Given the description of an element on the screen output the (x, y) to click on. 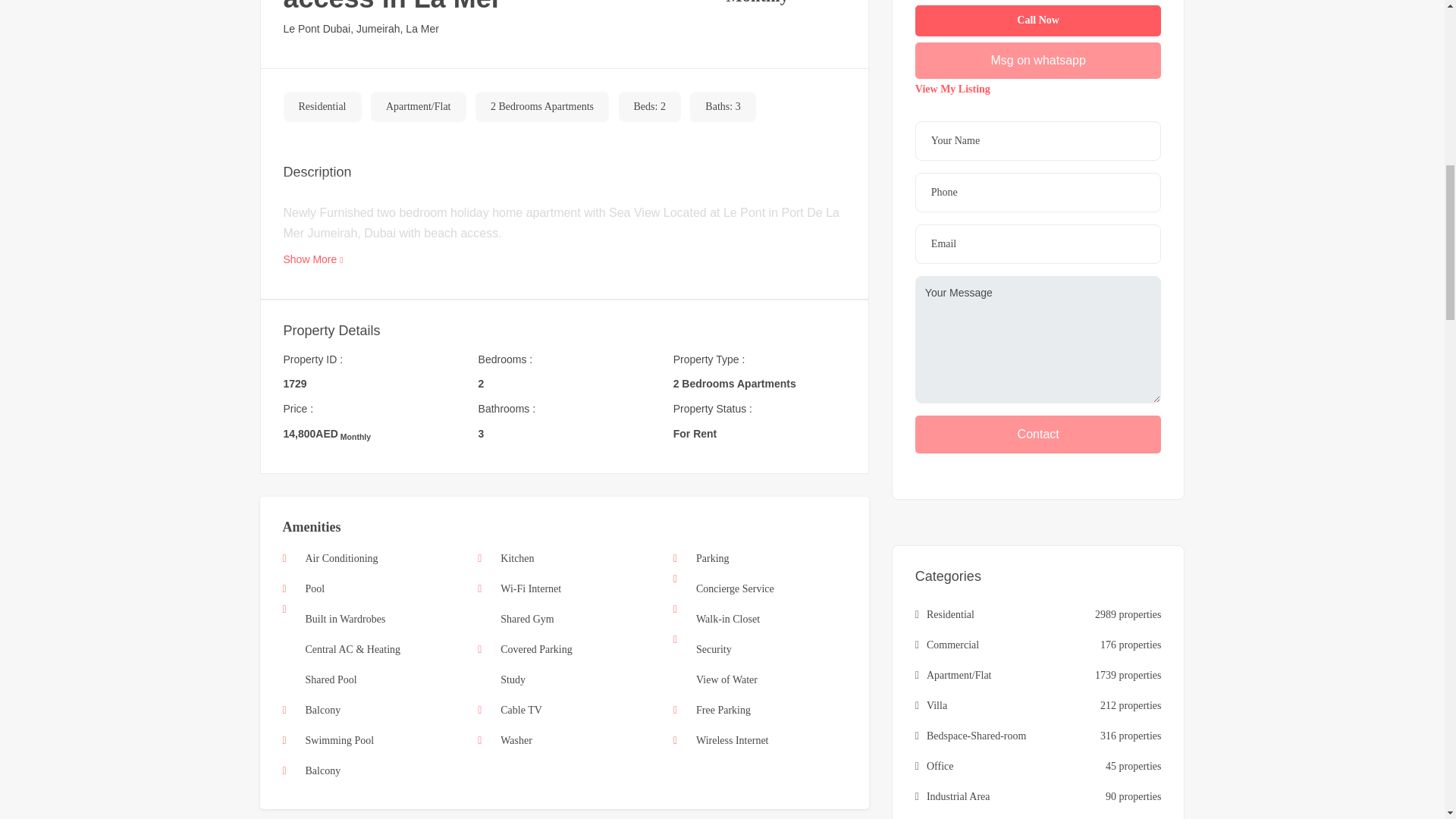
Balcony (322, 709)
Free Parking (723, 709)
Parking (712, 558)
2 Bedrooms Apartments (542, 106)
Walk-in Closet (727, 618)
Shared Gym (526, 618)
Cable TV (520, 709)
Concierge Service (734, 588)
Baths: 3 (721, 106)
Pool (314, 588)
